Given the description of an element on the screen output the (x, y) to click on. 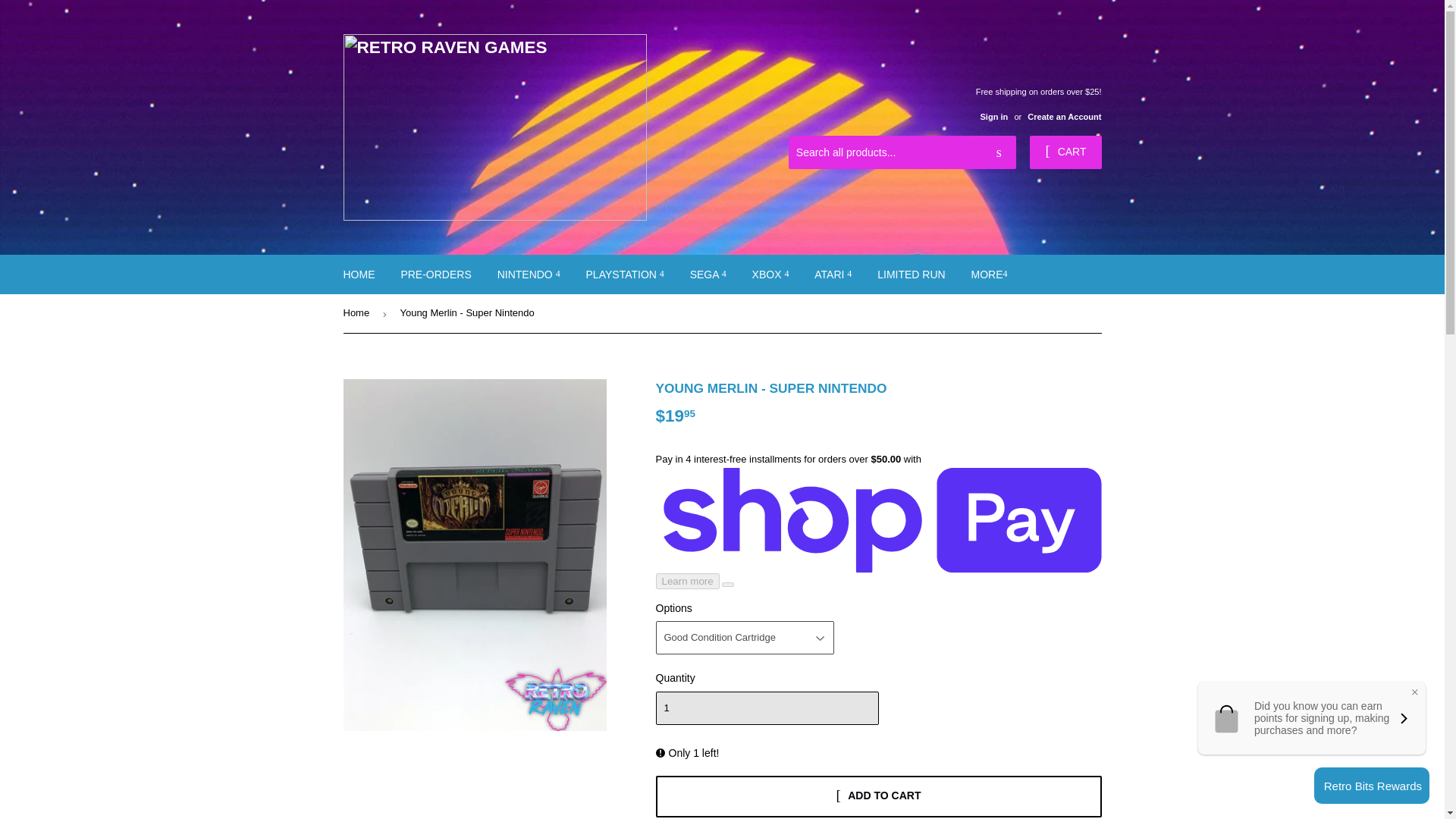
CART (1064, 151)
Sign in (993, 116)
Search (998, 152)
Create an Account (1063, 116)
1 (766, 707)
LoyaltyLion beacon (1371, 785)
